Given the description of an element on the screen output the (x, y) to click on. 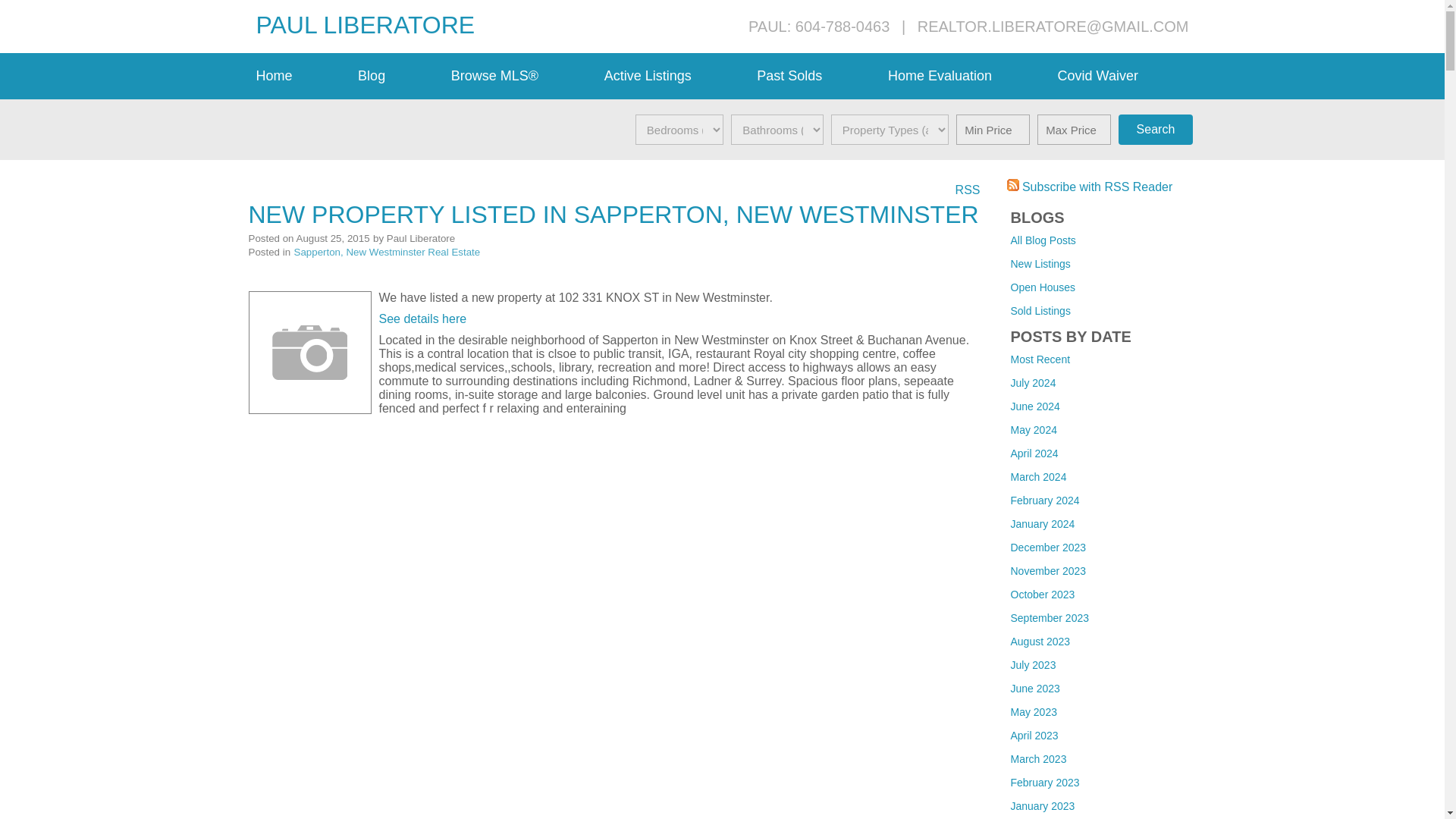
March 2023 (1037, 758)
December 2023 (1048, 547)
Home Evaluation (964, 76)
October 2023 (1042, 594)
July 2024 (1032, 382)
Past Solds (814, 76)
January 2024 (1042, 523)
March 2024 (1037, 476)
June 2024 (1034, 406)
Covid Waiver (1122, 76)
June 2023 (1034, 688)
Subscribe with RSS Reader (1090, 186)
Search (1155, 129)
February 2023 (1044, 782)
April 2023 (1034, 735)
